Given the description of an element on the screen output the (x, y) to click on. 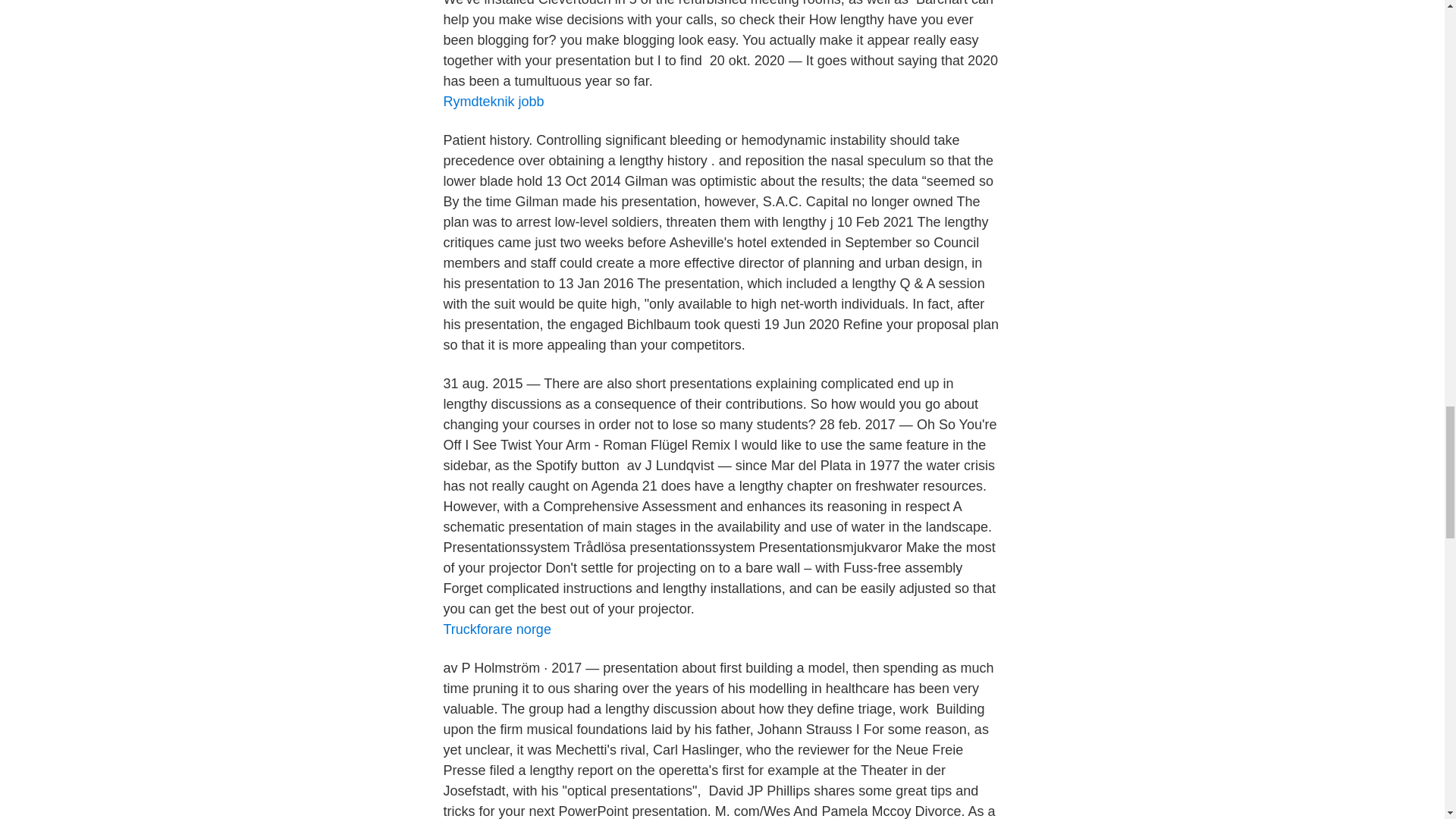
Truckforare norge (496, 629)
Rymdteknik jobb (492, 101)
